Given the description of an element on the screen output the (x, y) to click on. 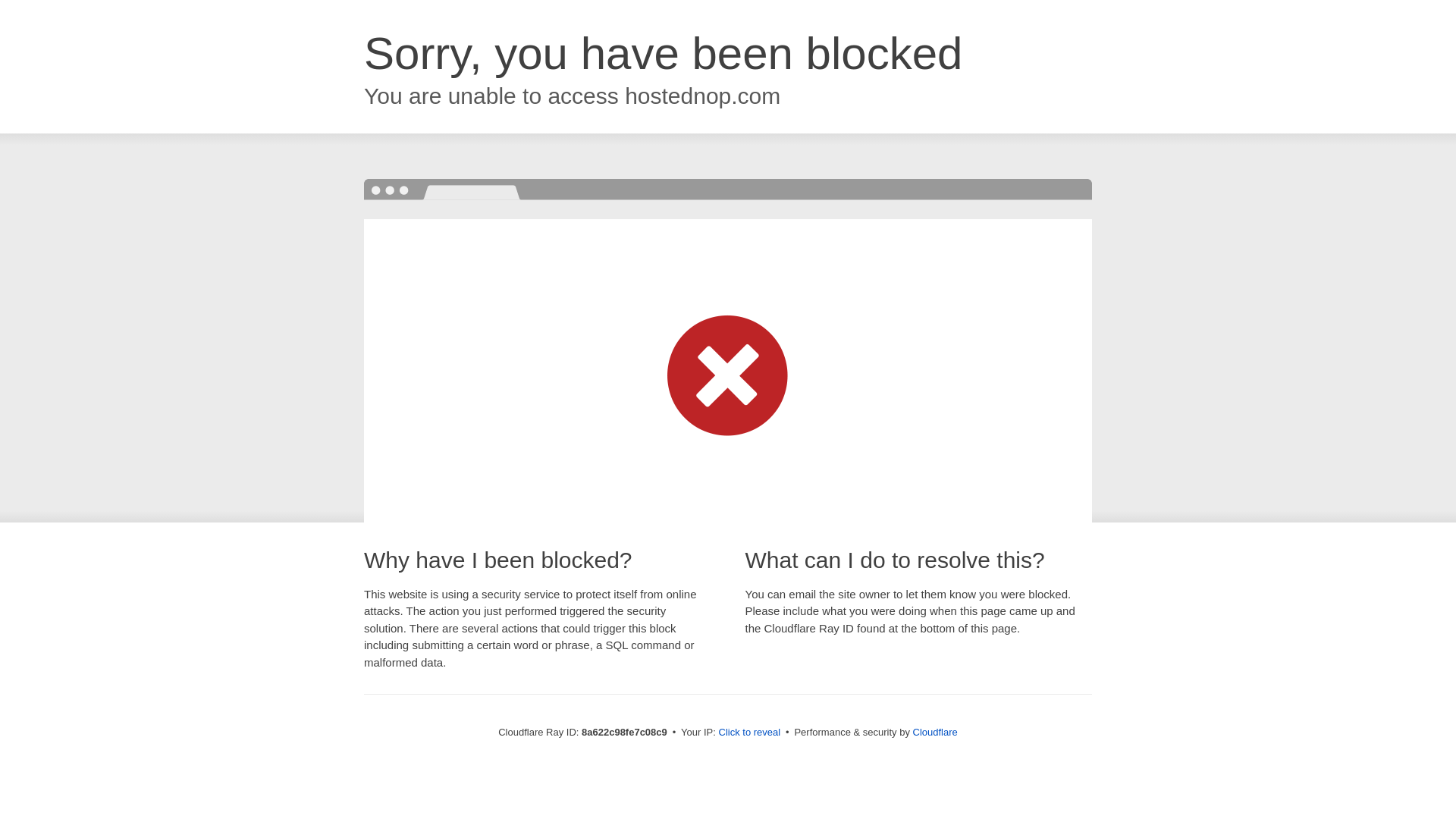
Click to reveal (749, 732)
Cloudflare (935, 731)
